Given the description of an element on the screen output the (x, y) to click on. 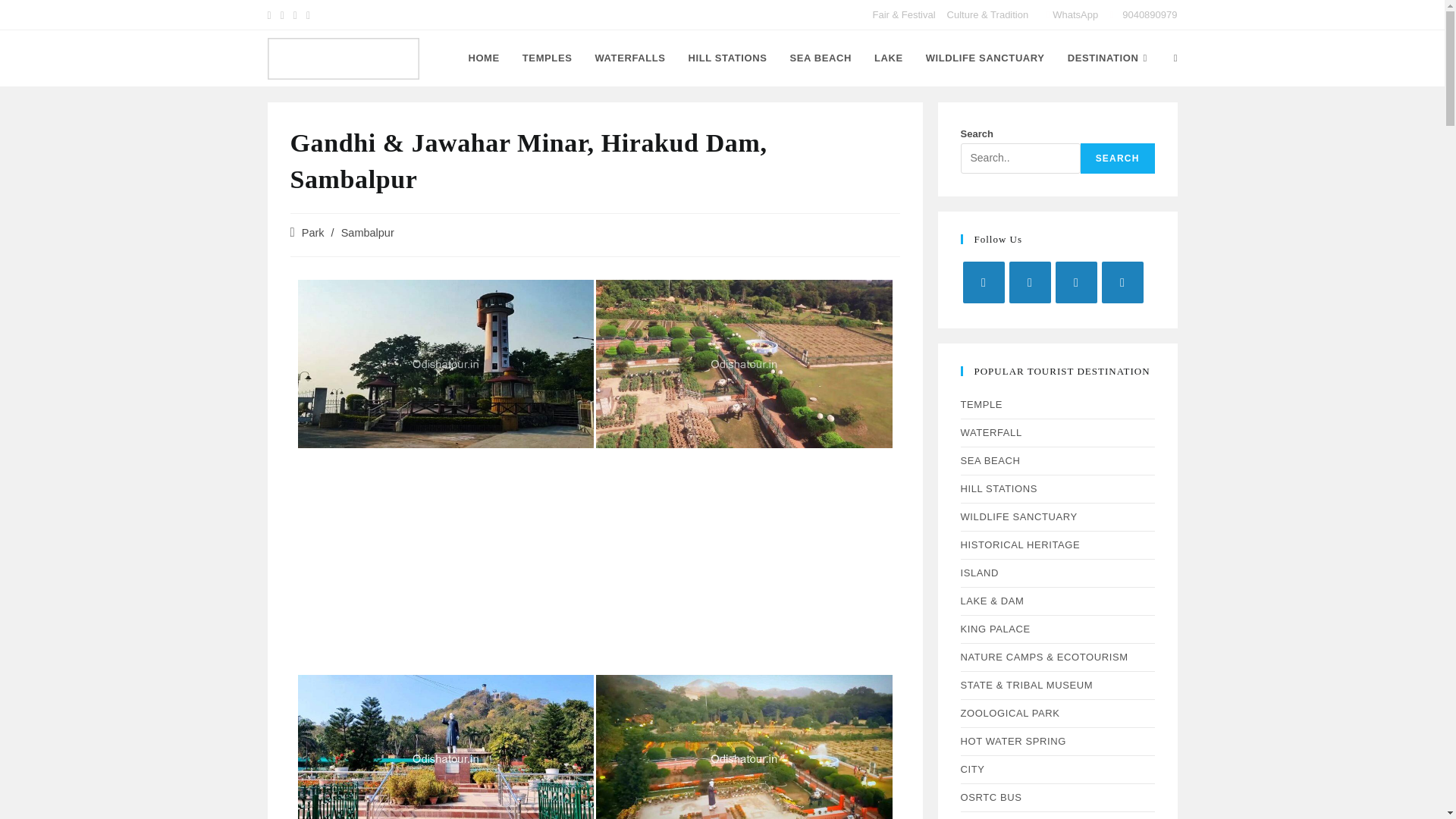
WhatsApp (1074, 14)
DESTINATION (1109, 58)
LAKE (888, 58)
TEMPLES (547, 58)
WATERFALLS (630, 58)
SEA BEACH (819, 58)
HOME (484, 58)
HILL STATIONS (727, 58)
9040890979 (1148, 14)
WILDLIFE SANCTUARY (985, 58)
